Given the description of an element on the screen output the (x, y) to click on. 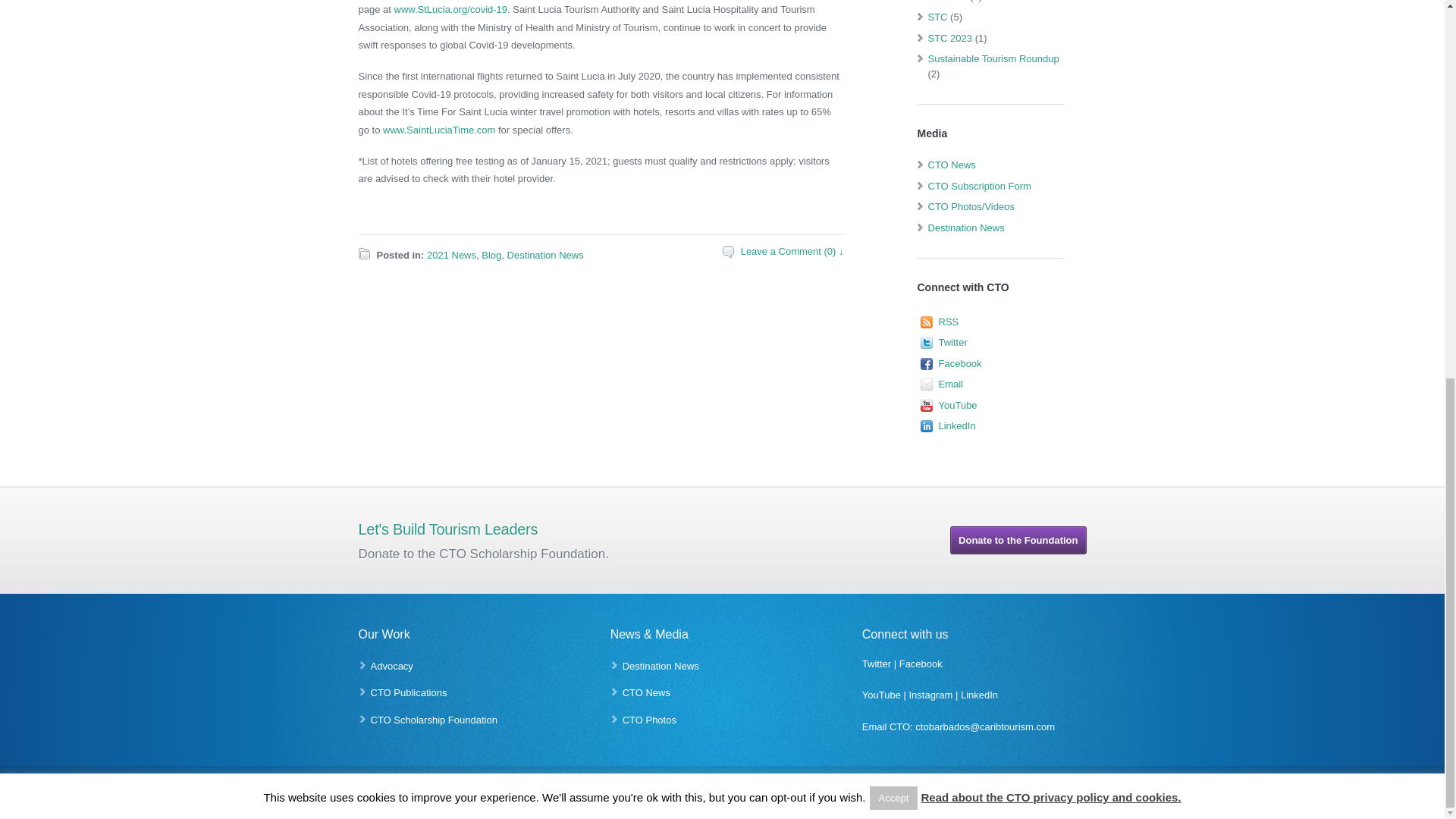
CTO Scholarship Foundation (432, 719)
Advocacy (390, 665)
CTO Publications (407, 692)
CTO Photos (650, 719)
Destination News (660, 665)
CTO News (646, 692)
